Given the description of an element on the screen output the (x, y) to click on. 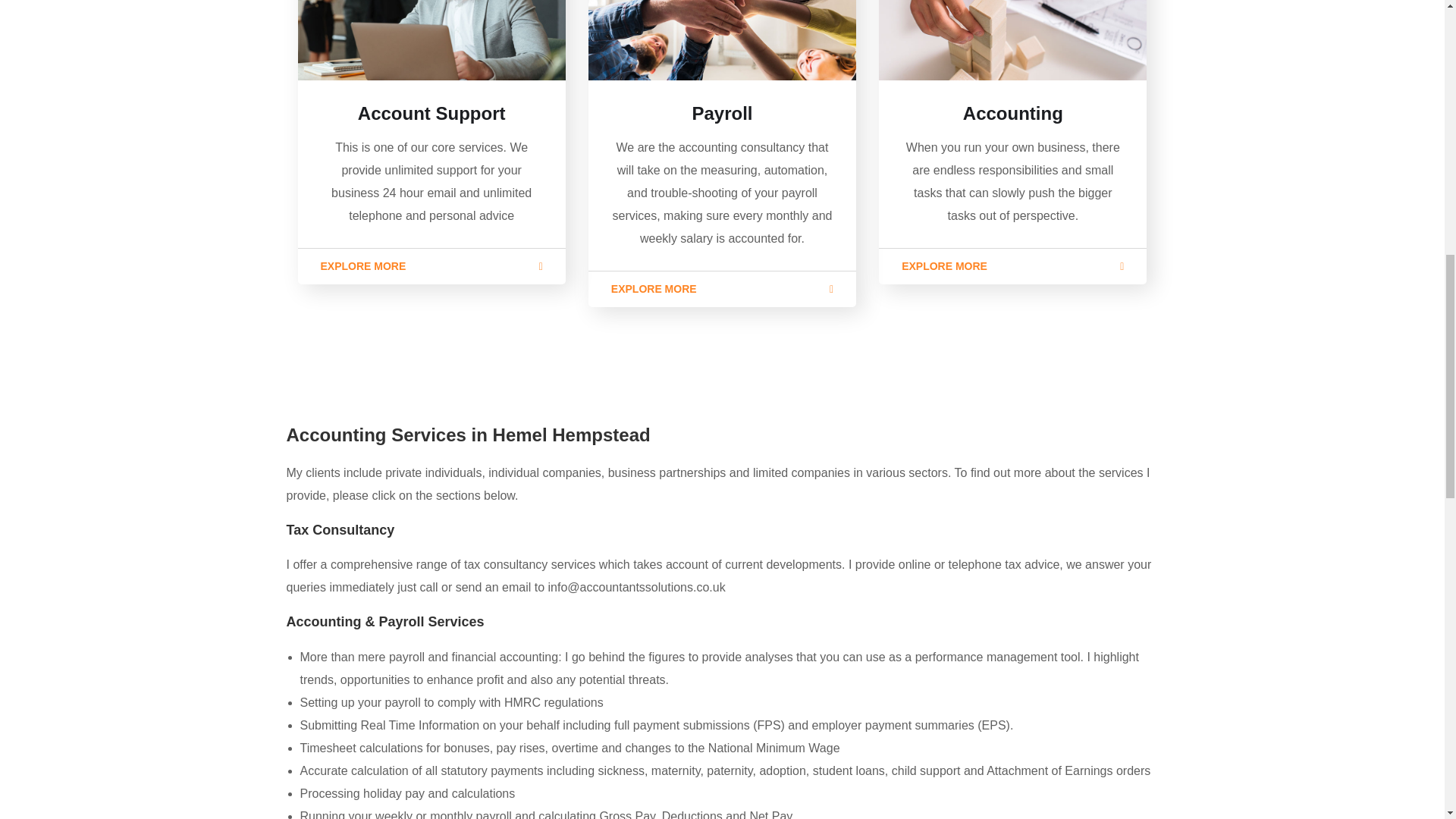
EXPLORE MORE (722, 289)
EXPLORE MORE (430, 266)
Accounting (1012, 113)
Payroll (721, 113)
Account Support (431, 113)
EXPLORE MORE (1013, 266)
